Given the description of an element on the screen output the (x, y) to click on. 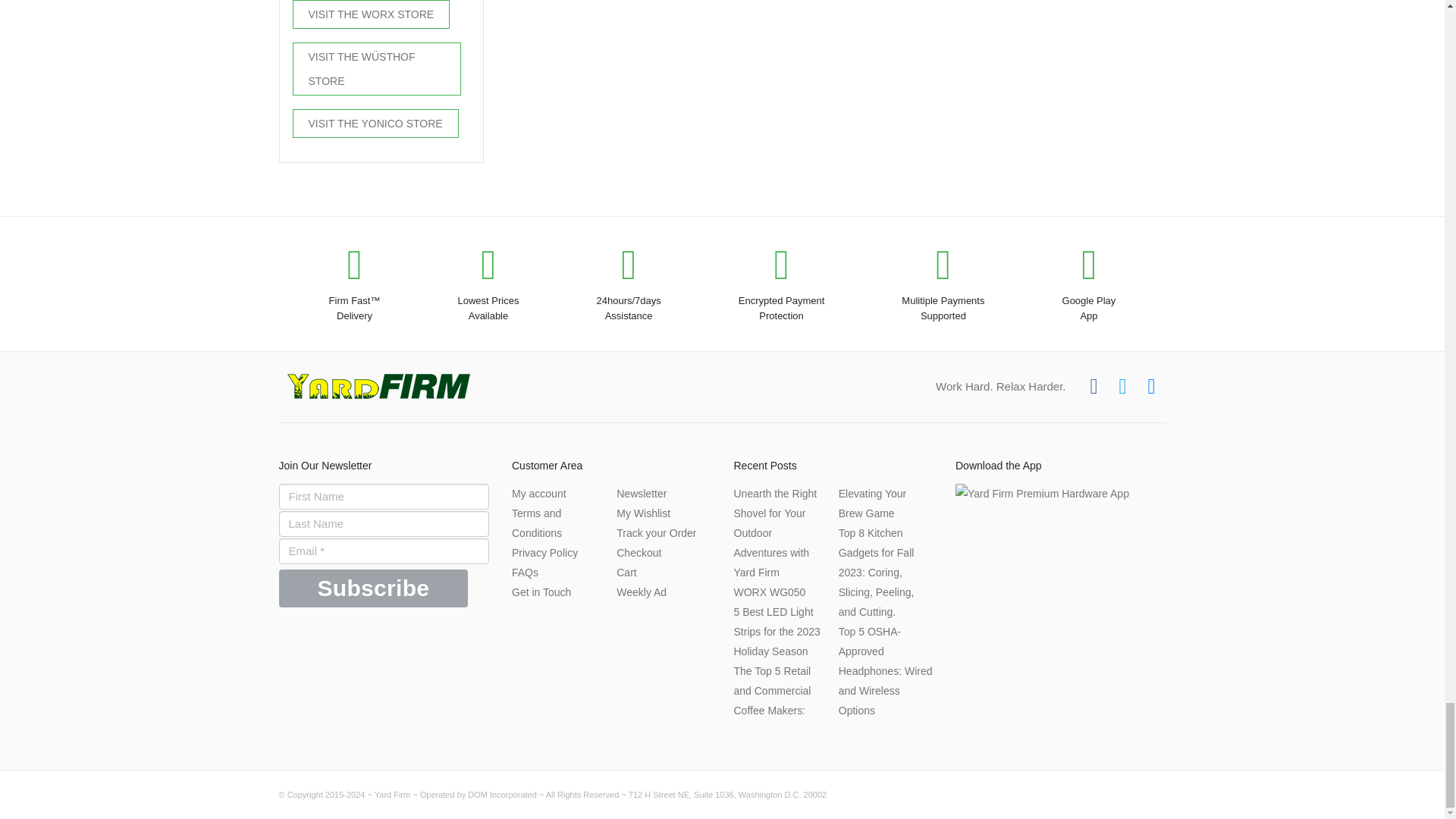
Subscribe (373, 588)
